Given the description of an element on the screen output the (x, y) to click on. 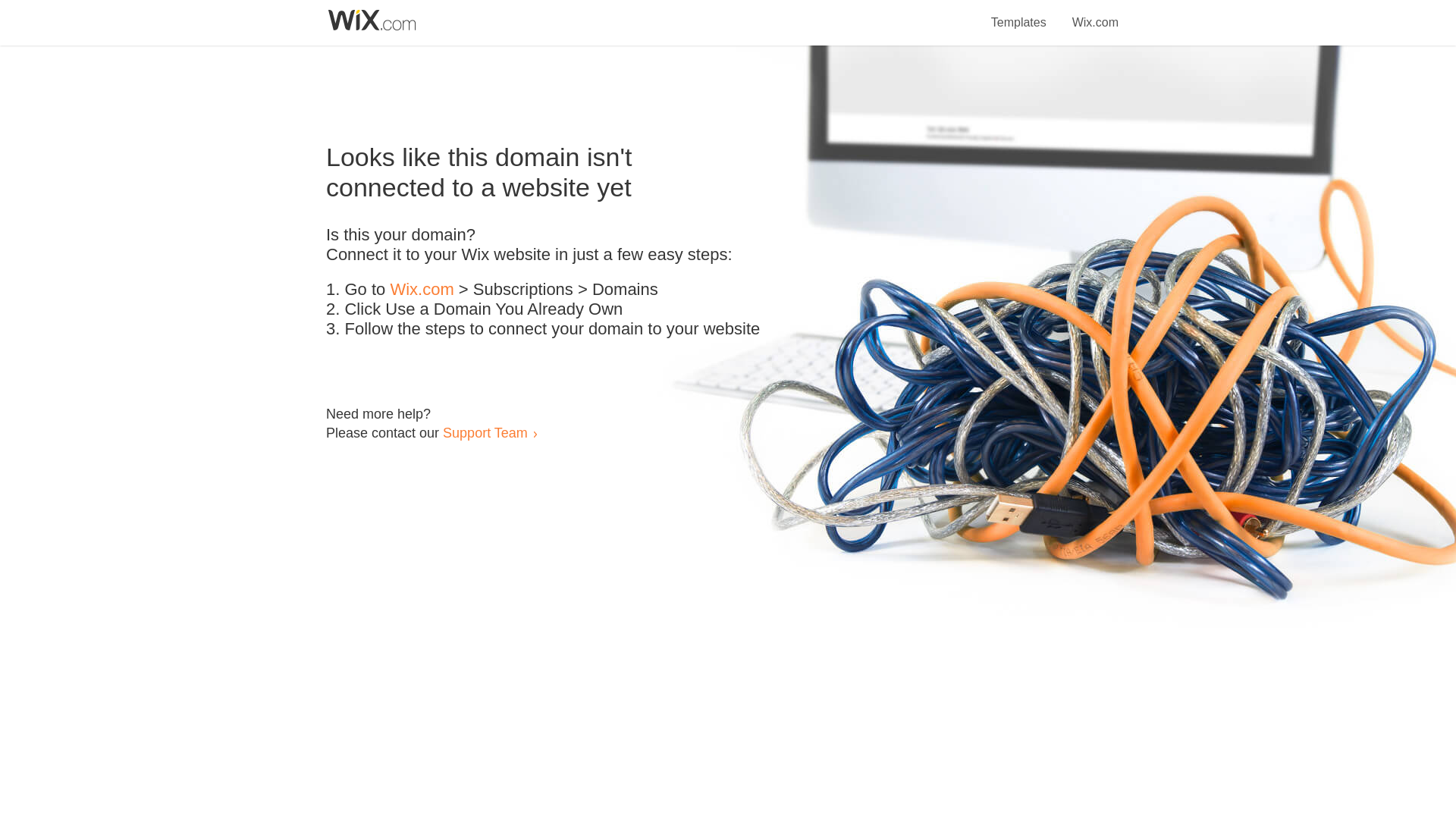
Wix.com (421, 289)
Wix.com (1095, 14)
Templates (1018, 14)
Support Team (484, 432)
